Given the description of an element on the screen output the (x, y) to click on. 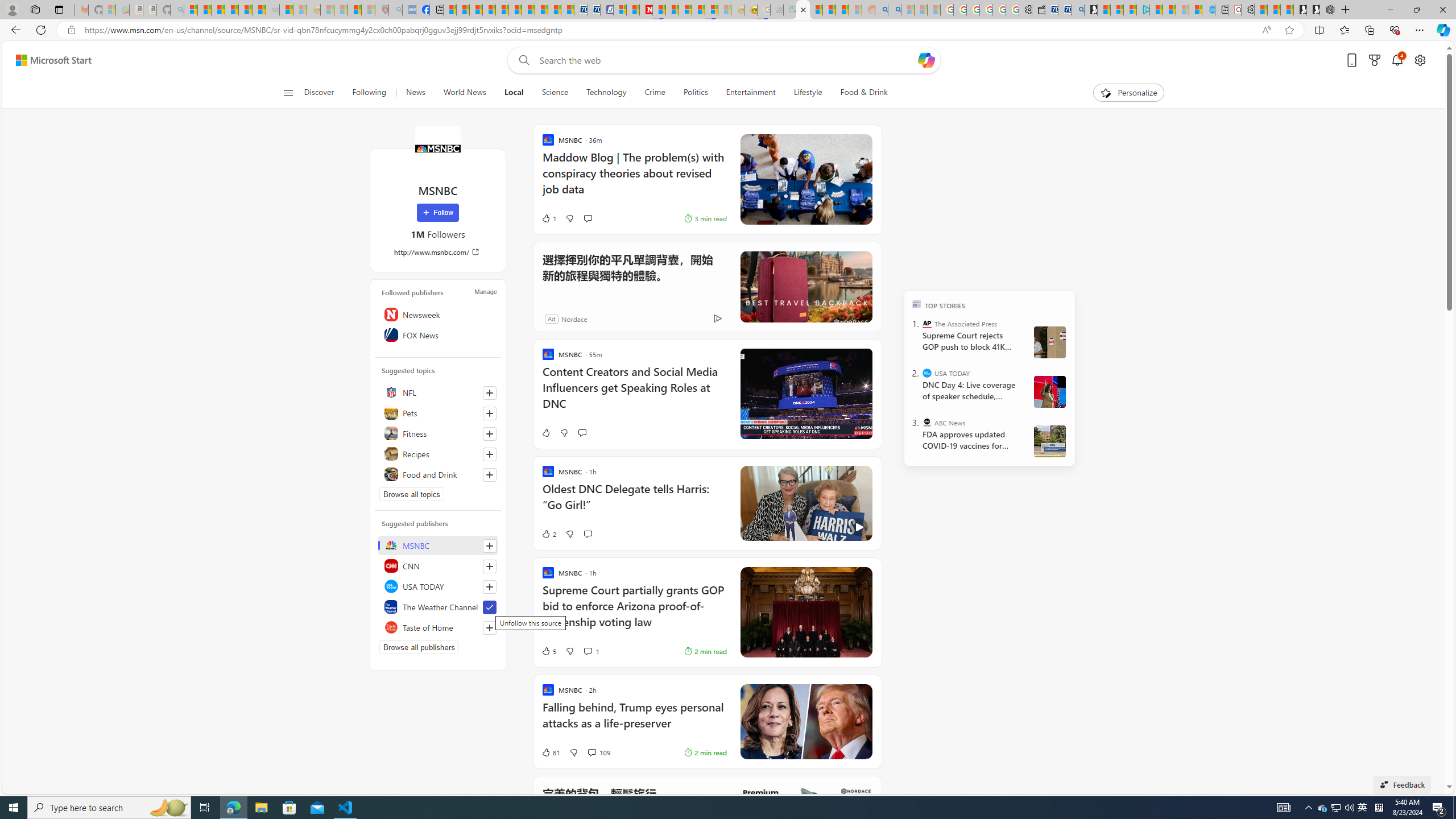
The Weather Channel (437, 606)
Cheap Hotels - Save70.com (593, 9)
